Given the description of an element on the screen output the (x, y) to click on. 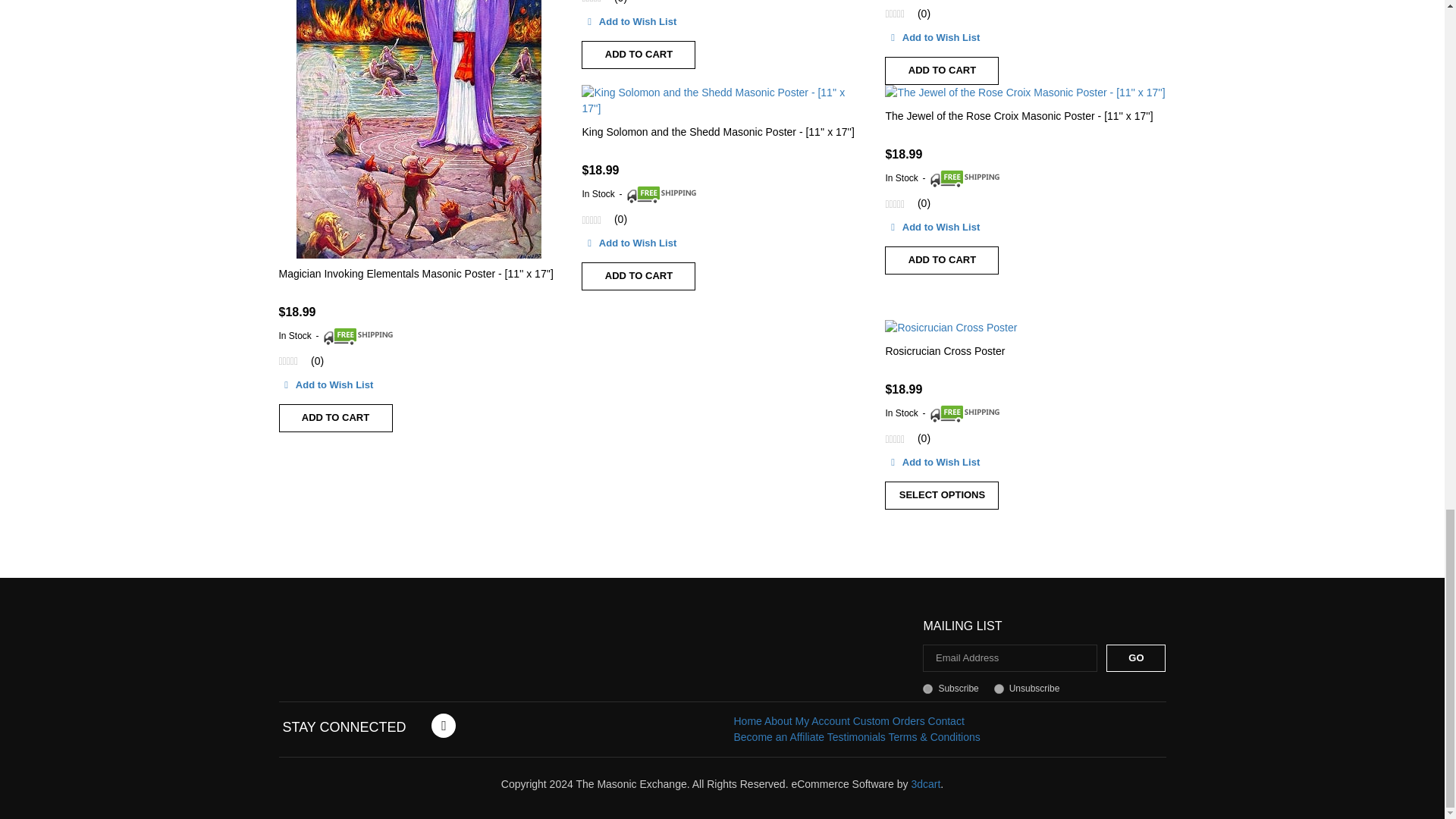
1 (928, 688)
0 (999, 688)
